Given the description of an element on the screen output the (x, y) to click on. 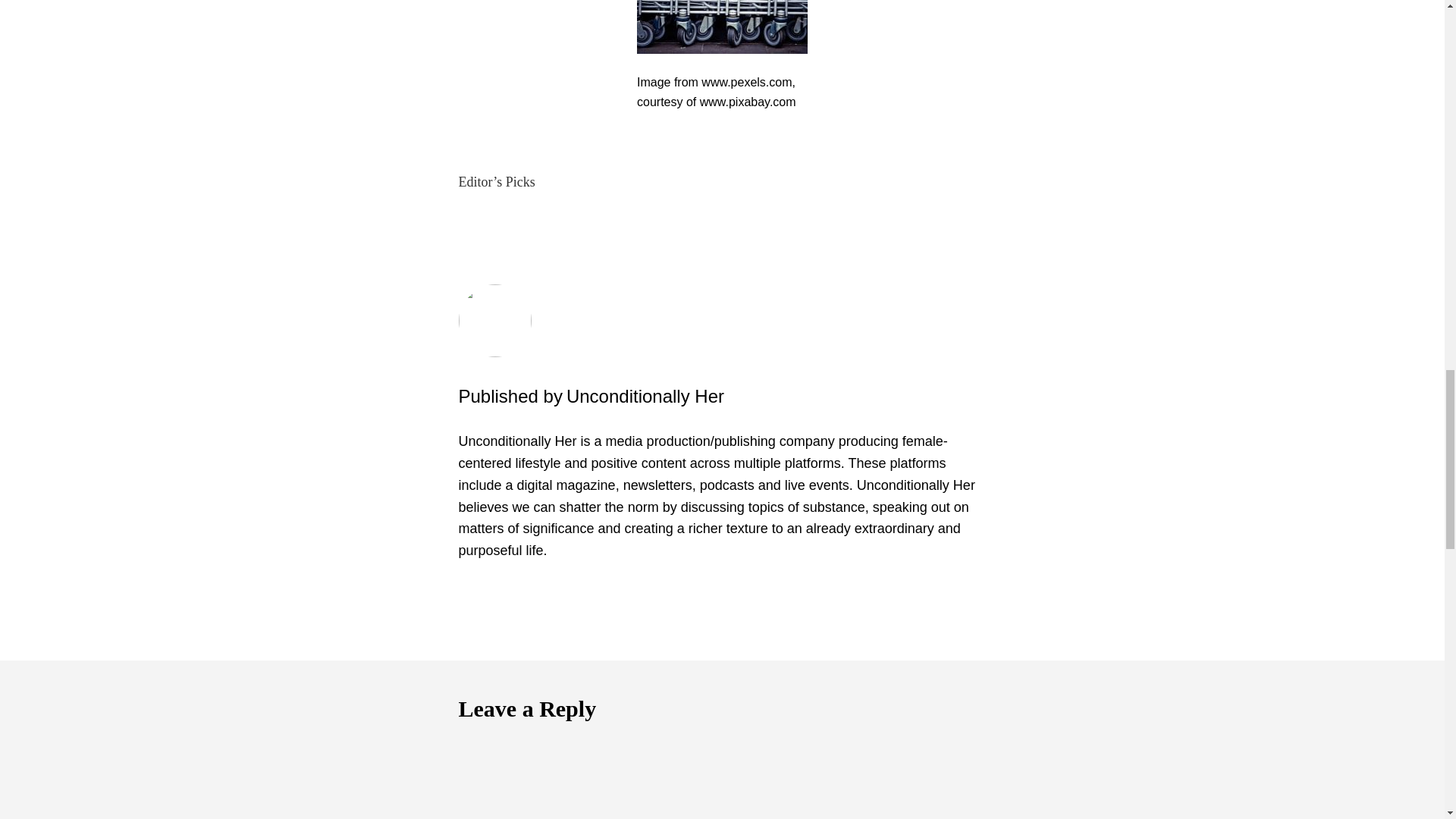
Comment Form (721, 773)
